Given the description of an element on the screen output the (x, y) to click on. 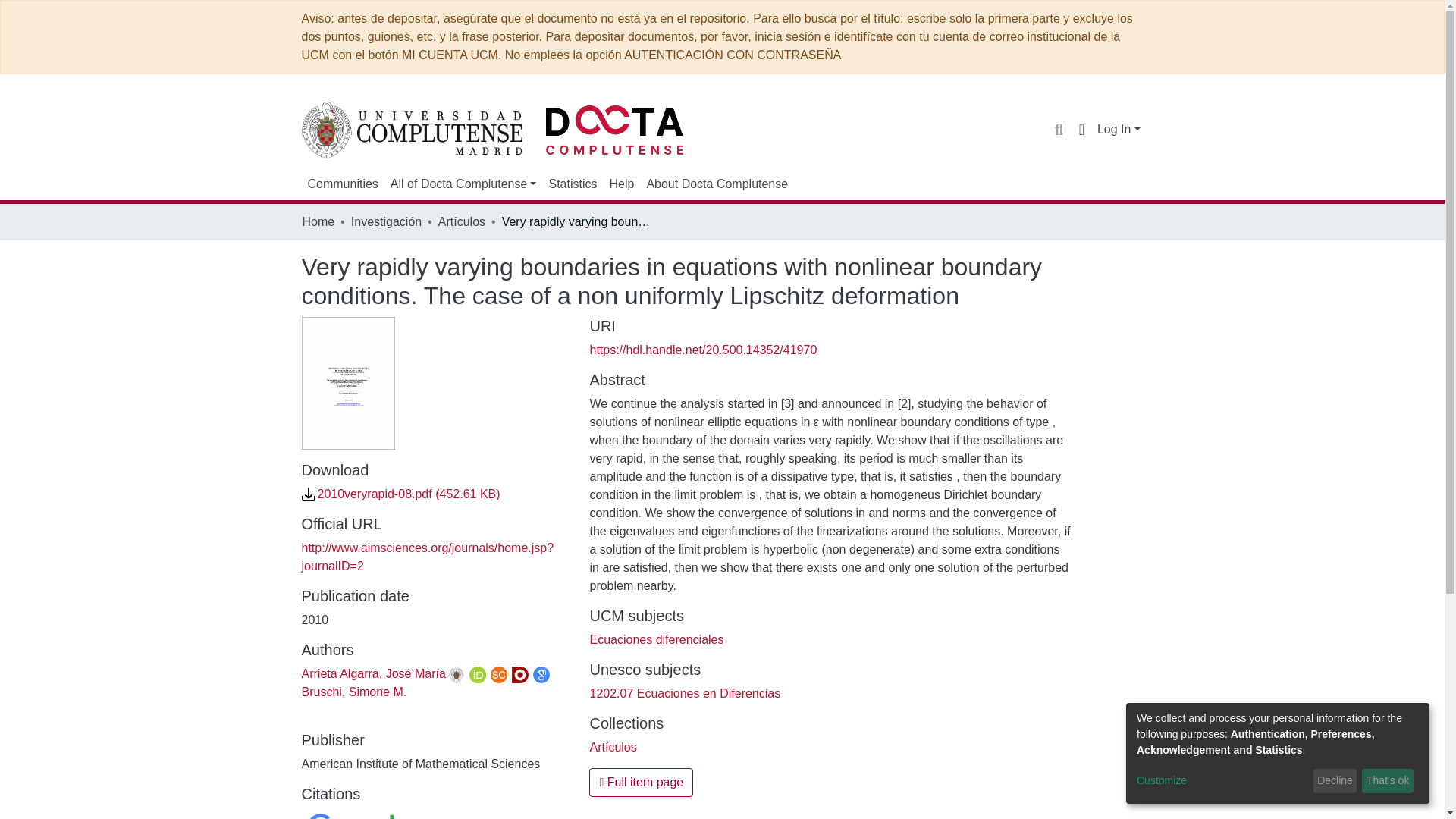
All of Docta Complutense (463, 183)
Communities (342, 183)
Scopus Author ID (498, 674)
Home (317, 221)
Bruschi, Simone M. (354, 691)
UCM identifier (456, 674)
About Docta Complutense (716, 183)
ORCID (477, 674)
Dialnet ID (520, 674)
Statistics (571, 183)
Communities (342, 183)
Help (621, 183)
Google Scholar ID (541, 674)
Statistics (571, 183)
downoloade (308, 494)
